Given the description of an element on the screen output the (x, y) to click on. 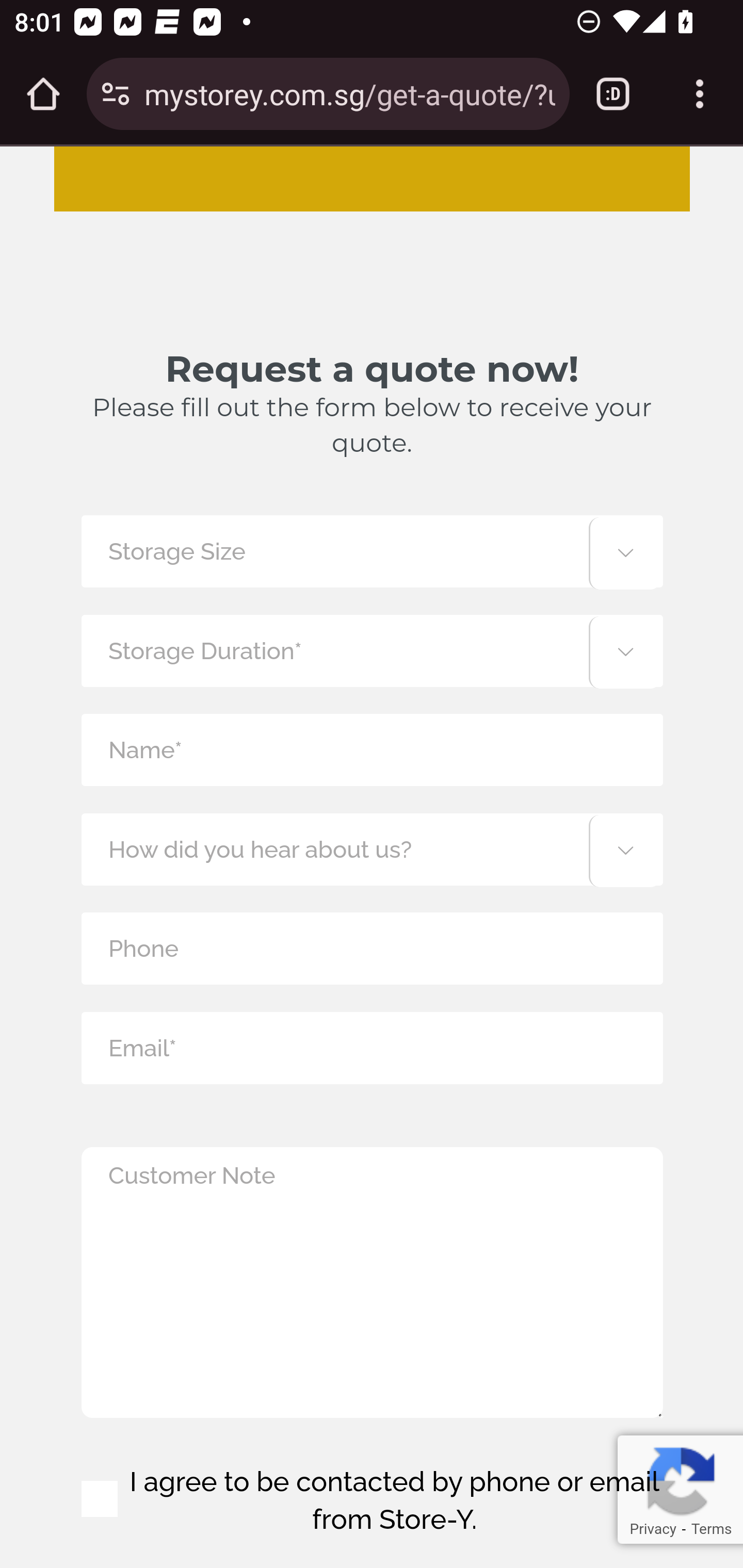
Open the home page (43, 93)
Connection is secure (115, 93)
Switch or close tabs (612, 93)
Customize and control Google Chrome (699, 93)
Storage Size (371, 551)
Storage Duration* (371, 649)
How did you hear about us? (371, 848)
Privacy (652, 1528)
Terms (711, 1528)
